Given the description of an element on the screen output the (x, y) to click on. 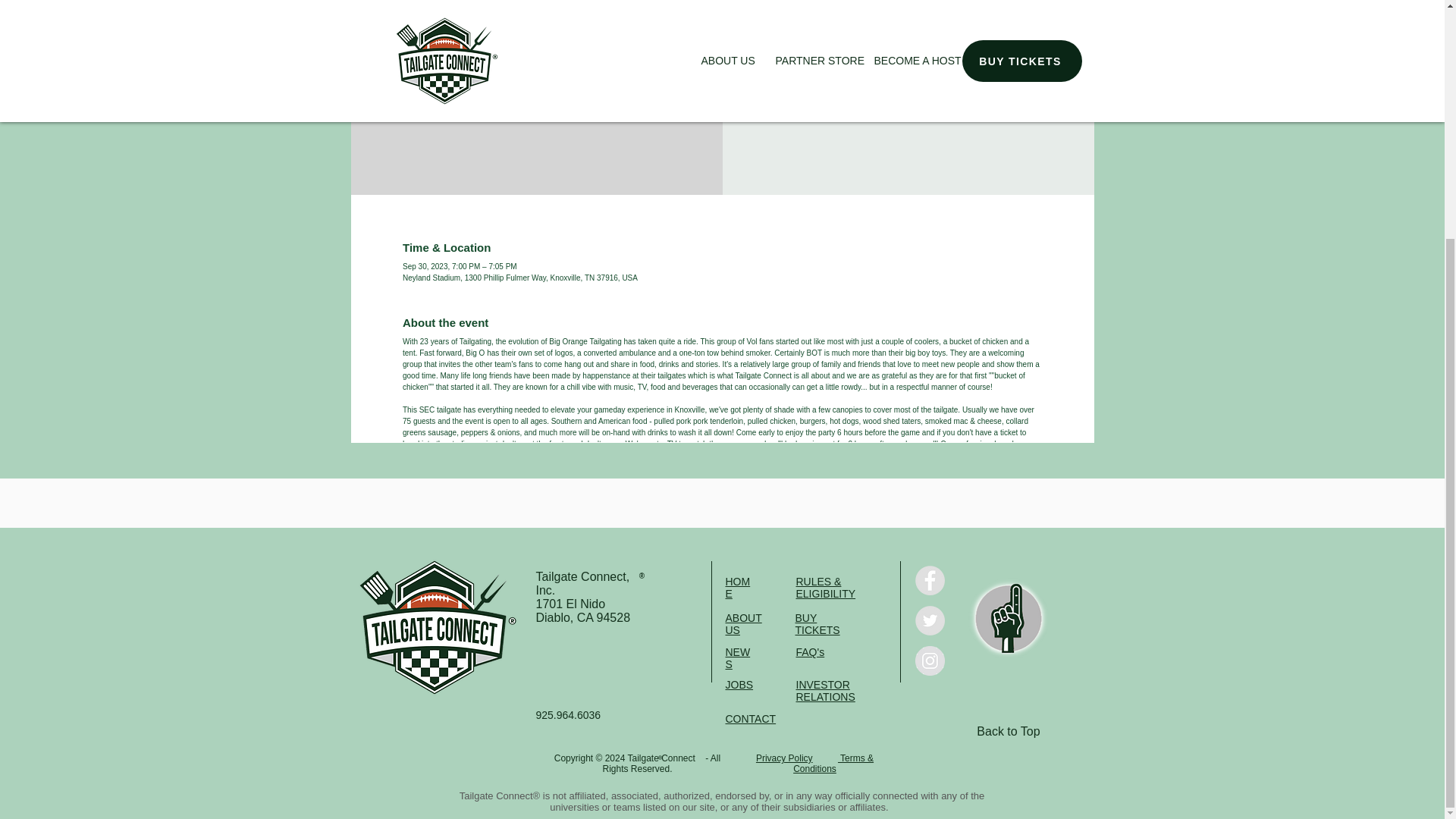
INVESTOR RELATIONS (826, 690)
Privacy Policy (783, 757)
Back to Top (1007, 730)
JOBS (738, 684)
HOME (737, 587)
FAQ's (810, 652)
Back to Top (1007, 618)
BUY TICKETS (817, 623)
CONTACT (750, 718)
ABOUT US (743, 623)
NEWS (737, 658)
